Given the description of an element on the screen output the (x, y) to click on. 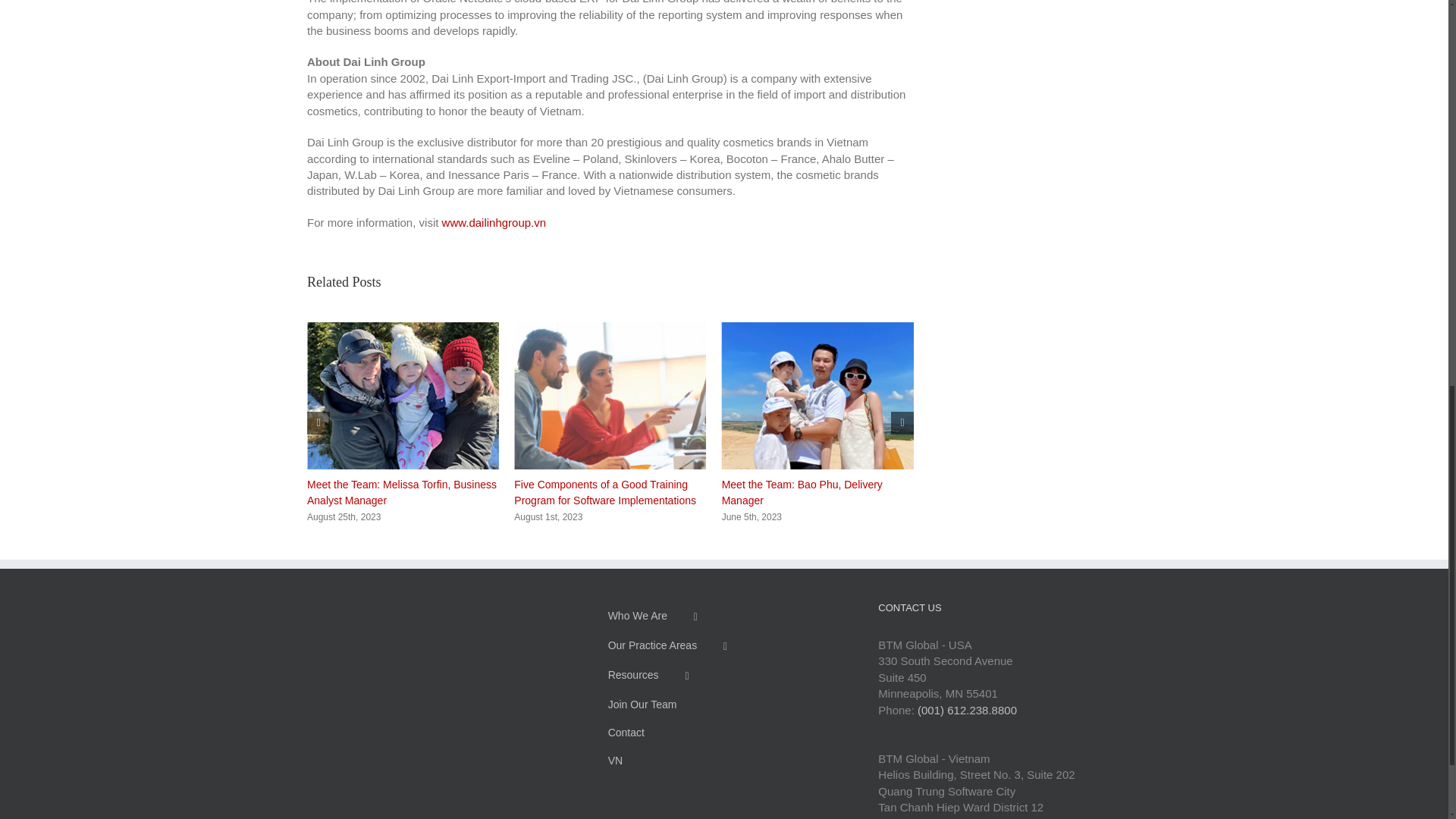
Meet the Team: Melissa Torfin, Business Analyst Manager (401, 492)
Meet the Team: Bao Phu, Delivery Manager (802, 492)
